Given the description of an element on the screen output the (x, y) to click on. 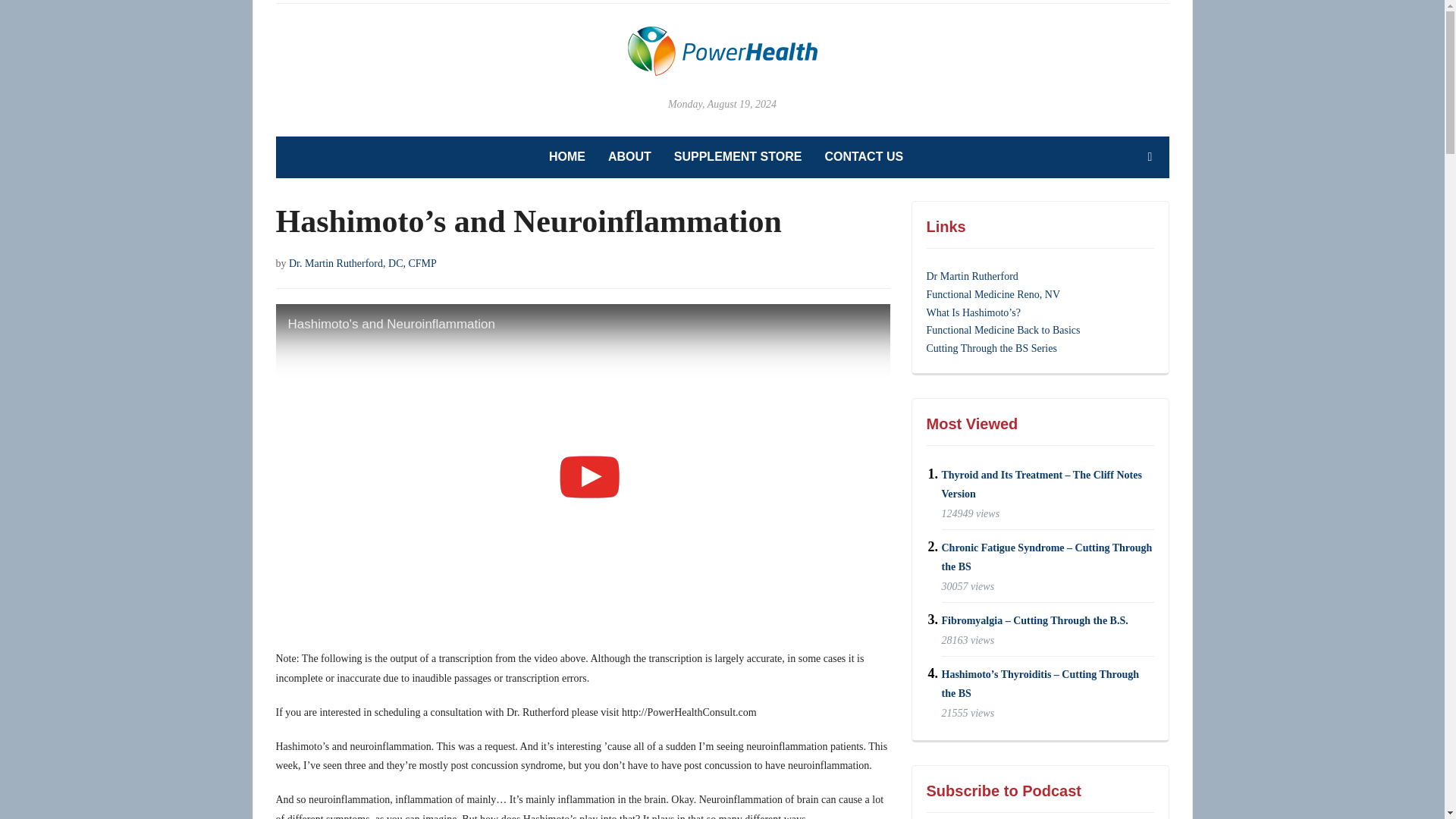
HOME (566, 157)
ABOUT (629, 157)
CONTACT US (863, 157)
Dr Martin Rutherford (971, 276)
Dr. Martin Rutherford, DC, CFMP (362, 263)
Functional Medicine Reno, NV (993, 294)
Search (1149, 156)
SUPPLEMENT STORE (738, 157)
Functional Medicine Back to Basics (1003, 329)
Cutting Through the BS Series (991, 348)
